Given the description of an element on the screen output the (x, y) to click on. 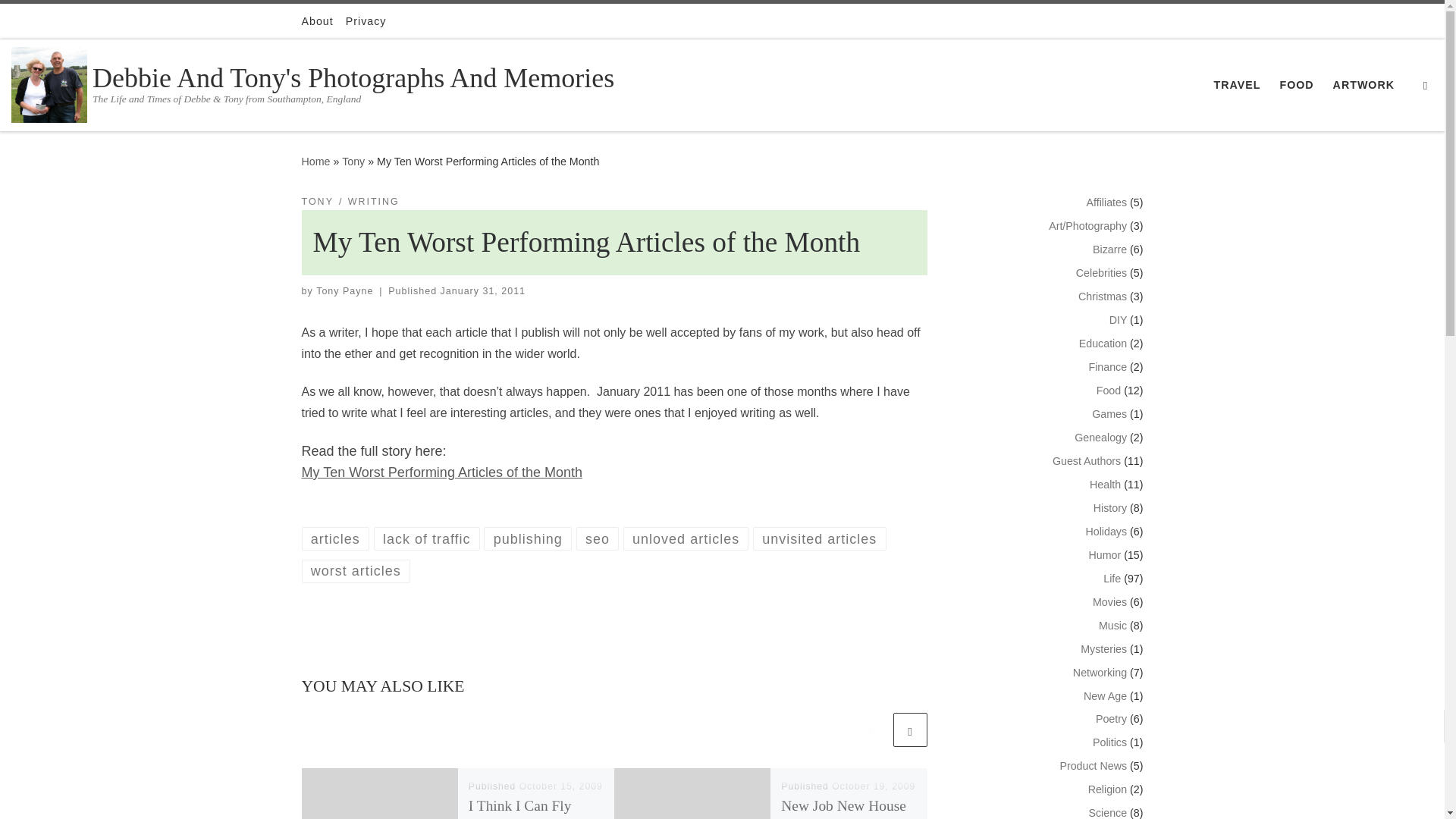
TRAVEL (1236, 84)
View all posts in worst articles (355, 571)
January 31, 2011 (483, 290)
Tony (353, 161)
View all posts in seo (598, 538)
Privacy (366, 21)
11:19 am (483, 290)
Home (315, 161)
seo (598, 538)
View all posts in unvisited articles (819, 538)
View all posts in unloved articles (686, 538)
View all posts in lack of traffic (427, 538)
WRITING (372, 201)
View all posts in articles (335, 538)
Tony Payne (343, 290)
